Given the description of an element on the screen output the (x, y) to click on. 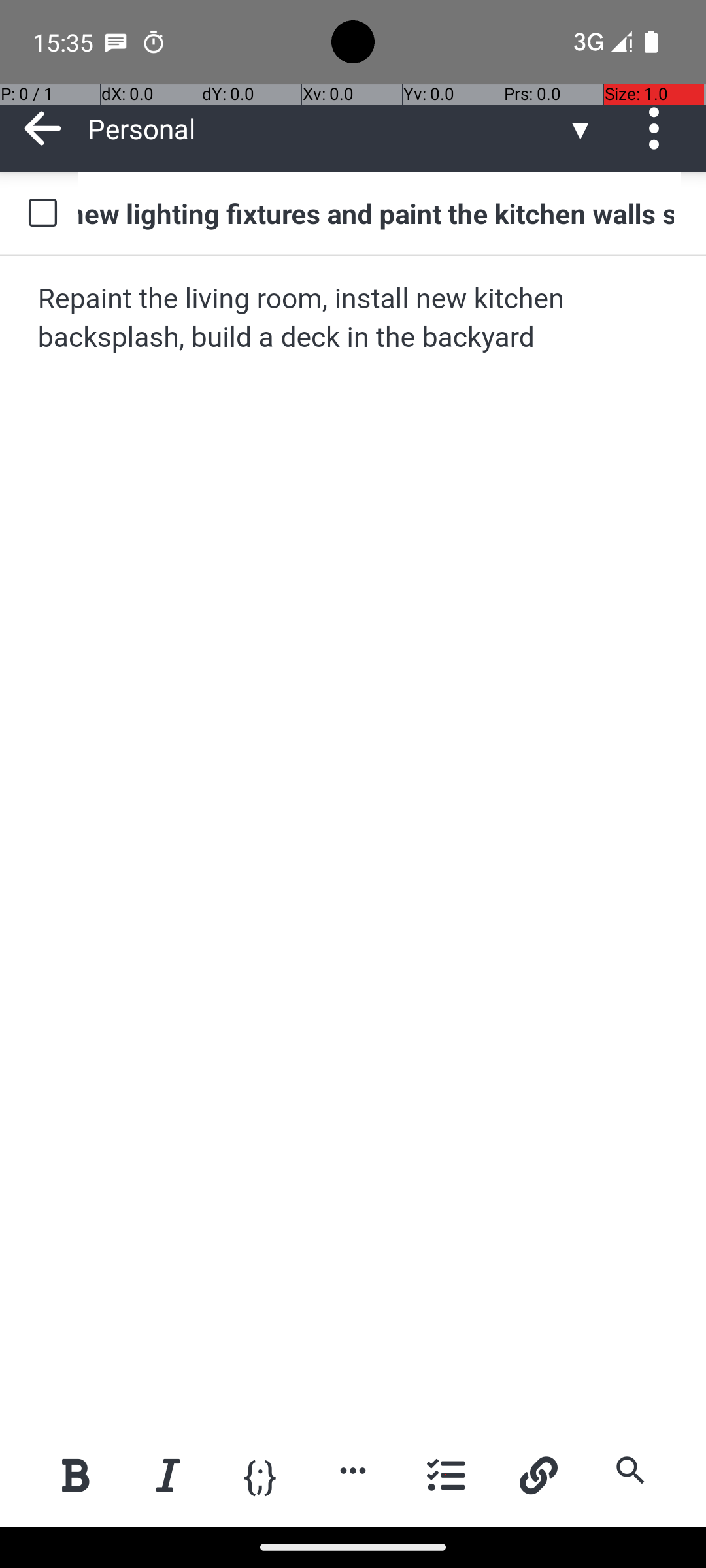
Home Improvement ProjRenovate the bathroom and add newInstall new lighting fixtures and paint the kitchen walls shelves in the garageects Element type: android.widget.EditText (378, 213)
Repaint the living room, install new kitchen backsplash, build a deck in the backyard Element type: android.widget.EditText (354, 318)
